Given the description of an element on the screen output the (x, y) to click on. 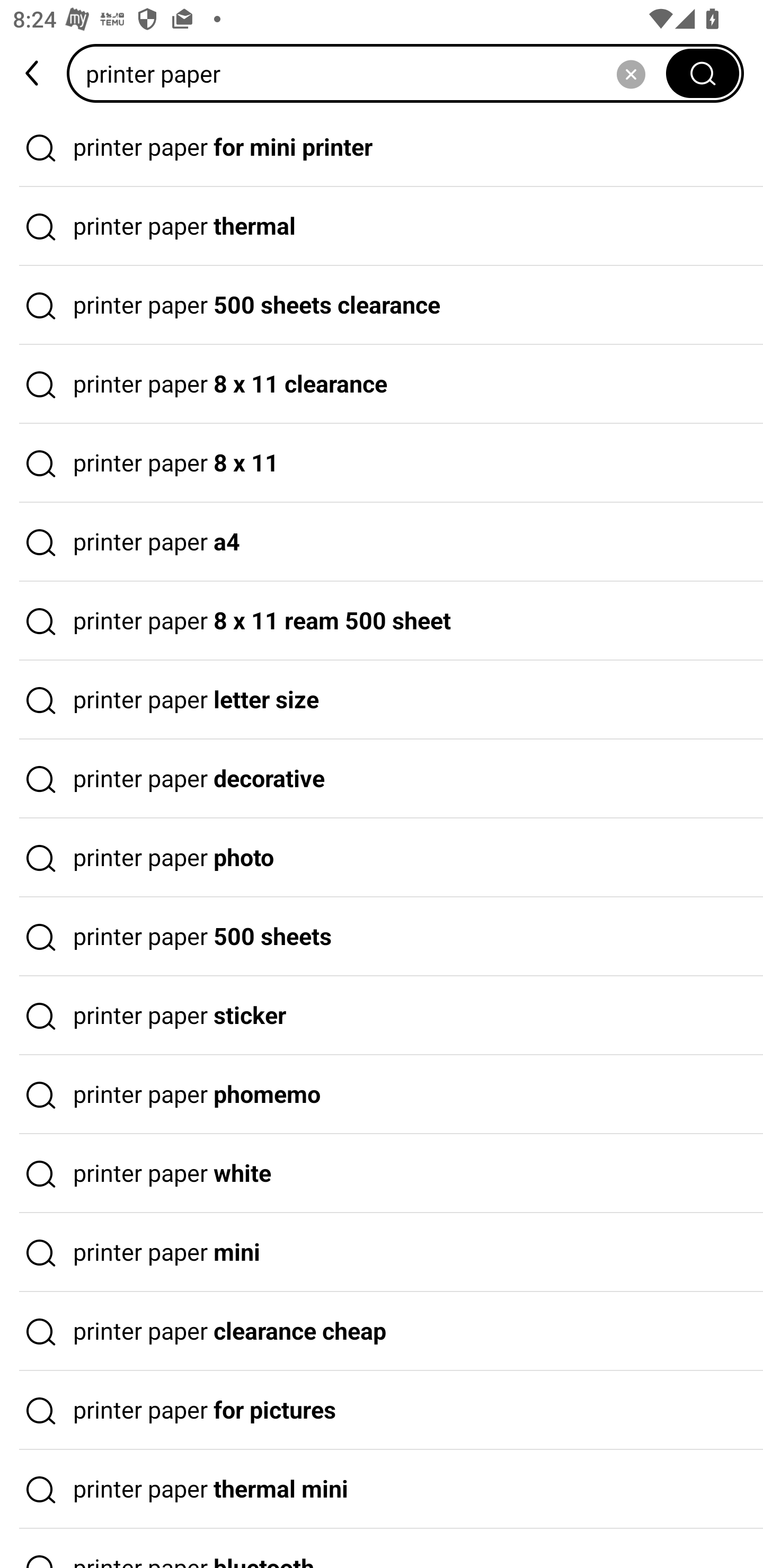
back (33, 72)
printer paper (372, 73)
Delete search history (630, 73)
printer paper for mini printer (381, 147)
printer paper thermal (381, 226)
printer paper 500 sheets clearance (381, 305)
printer paper 8 x 11 clearance (381, 383)
printer paper 8 x 11 (381, 463)
printer paper a4 (381, 542)
printer paper 8 x 11 ream 500 sheet (381, 620)
printer paper letter size (381, 700)
printer paper decorative (381, 779)
printer paper photo (381, 857)
printer paper 500 sheets (381, 936)
printer paper sticker (381, 1015)
printer paper phomemo (381, 1094)
printer paper white (381, 1173)
printer paper mini (381, 1252)
printer paper clearance cheap (381, 1331)
printer paper for pictures (381, 1410)
printer paper thermal mini (381, 1489)
